Given the description of an element on the screen output the (x, y) to click on. 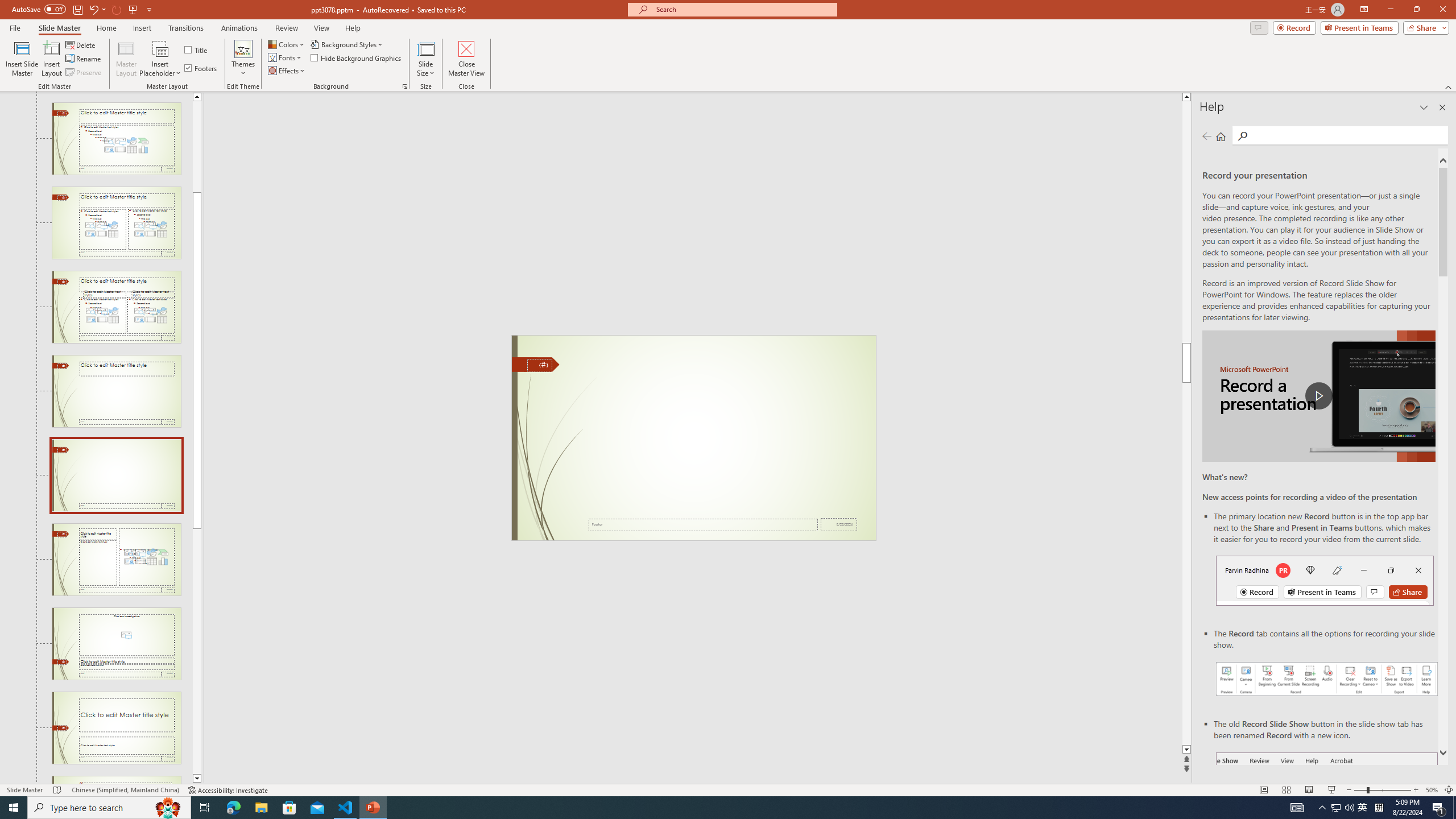
Footer (703, 524)
Slide Two Content Layout: used by no slides (116, 222)
Format Background... (404, 85)
Slide Blank Layout: used by no slides (116, 475)
Fonts (285, 56)
Slide Quote with Caption Layout: used by no slides (116, 779)
Slide Title and Caption Layout: used by no slides (116, 728)
